Given the description of an element on the screen output the (x, y) to click on. 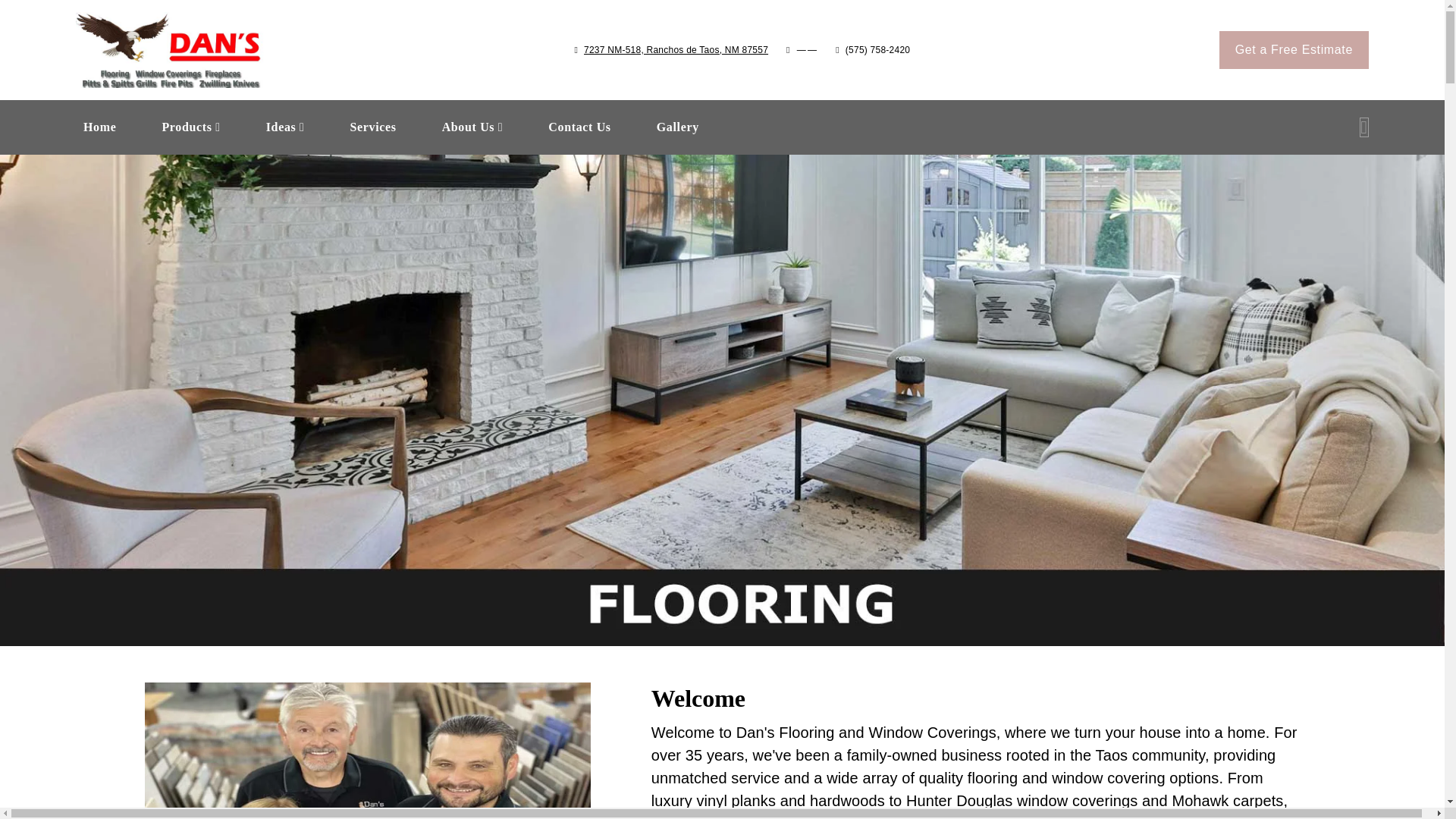
7237 NM-518, Ranchos de Taos, NM 87557 (678, 126)
Products (675, 49)
Home (678, 126)
Get a Free Estimate (190, 126)
Ideas (99, 126)
